Given the description of an element on the screen output the (x, y) to click on. 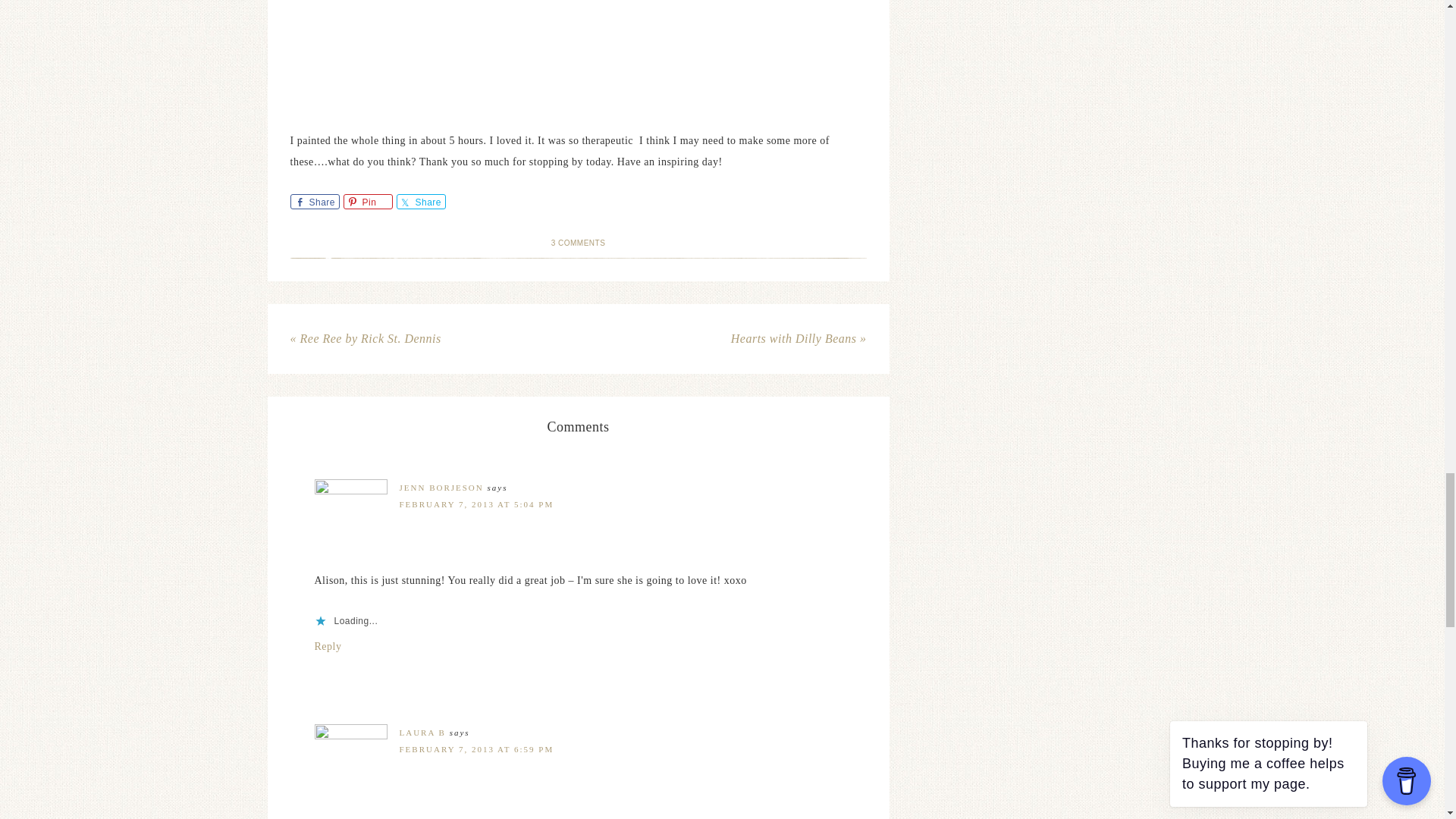
Reply (327, 645)
FEBRUARY 7, 2013 AT 6:59 PM (475, 748)
LAURA B (421, 732)
Share (314, 201)
3 COMMENTS (578, 243)
FEBRUARY 7, 2013 AT 5:04 PM (475, 503)
Pin (366, 201)
JENN BORJESON (440, 487)
Share (420, 201)
